Given the description of an element on the screen output the (x, y) to click on. 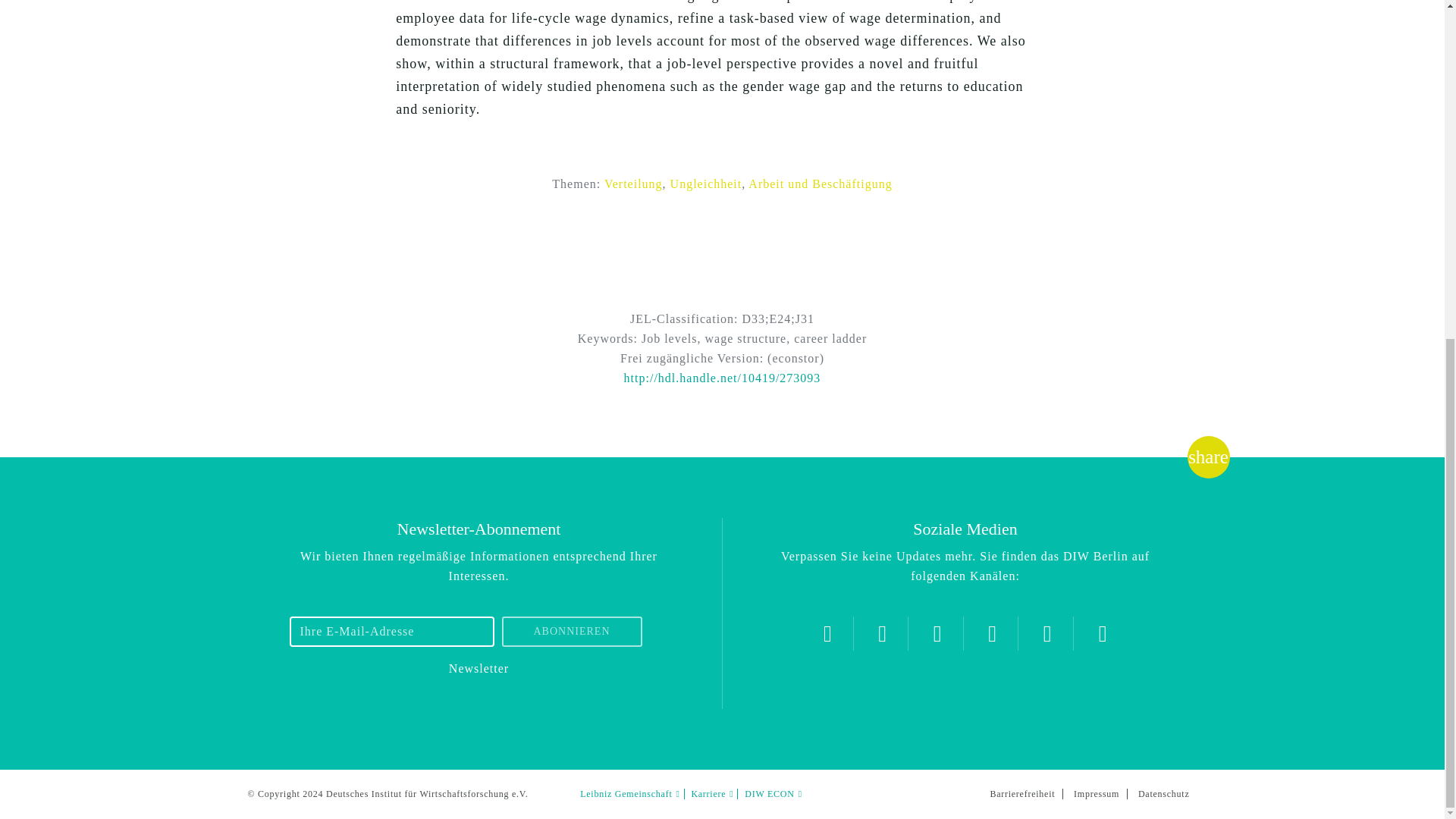
LinkedIn (1047, 633)
Teilen (1208, 456)
Instagram (882, 633)
Facebook (937, 633)
Youtube (991, 633)
Twitter (827, 633)
RSS feeds (1102, 633)
